Given the description of an element on the screen output the (x, y) to click on. 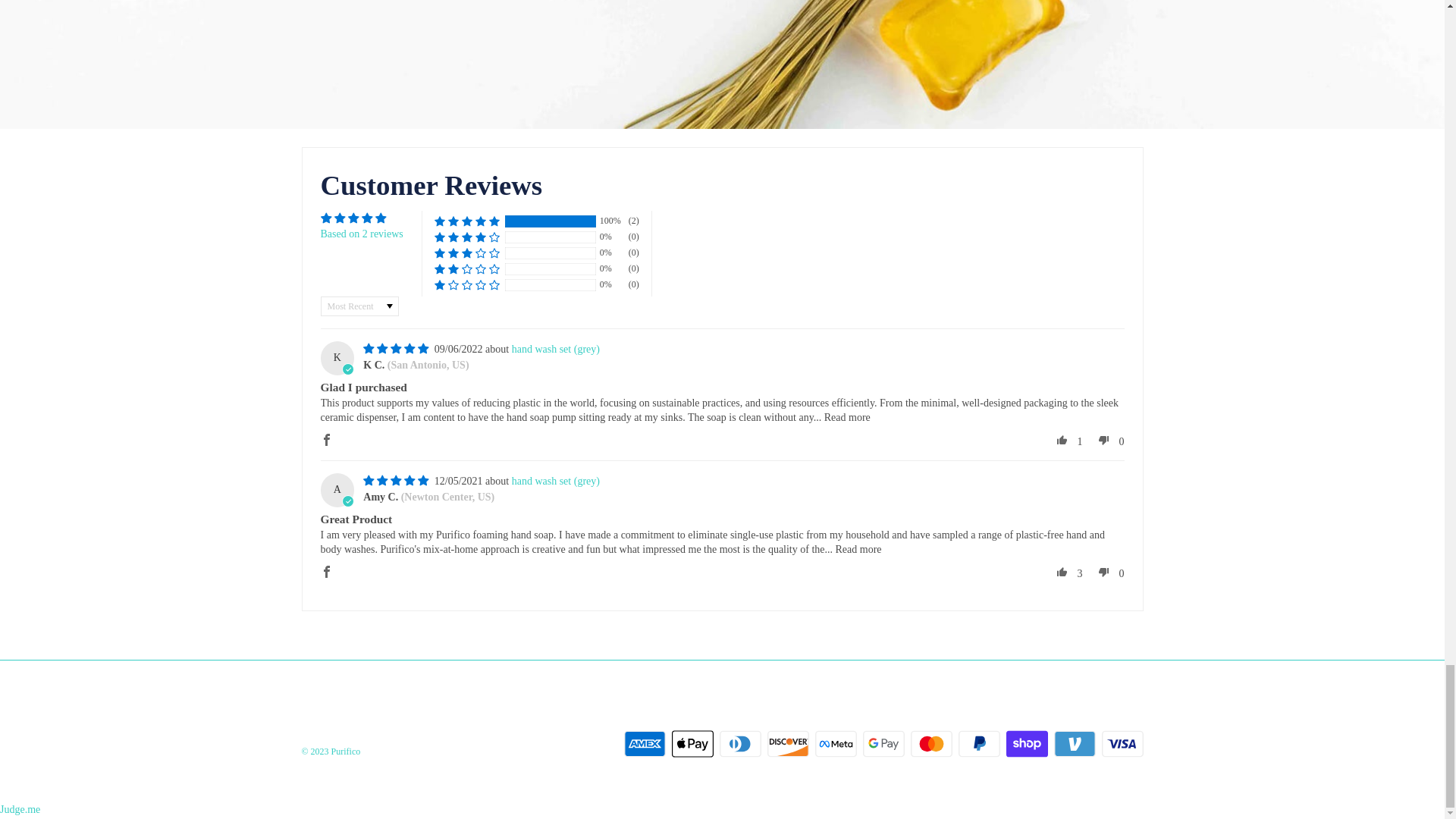
up (1061, 439)
up (1061, 571)
Facebook (325, 439)
Apple Pay (692, 743)
Mastercard (931, 743)
Meta Pay (834, 743)
Google Pay (883, 743)
Diners Club (739, 743)
Discover (788, 743)
Facebook (325, 571)
PayPal (979, 743)
down (1104, 439)
American Express (644, 743)
down (1104, 571)
